Given the description of an element on the screen output the (x, y) to click on. 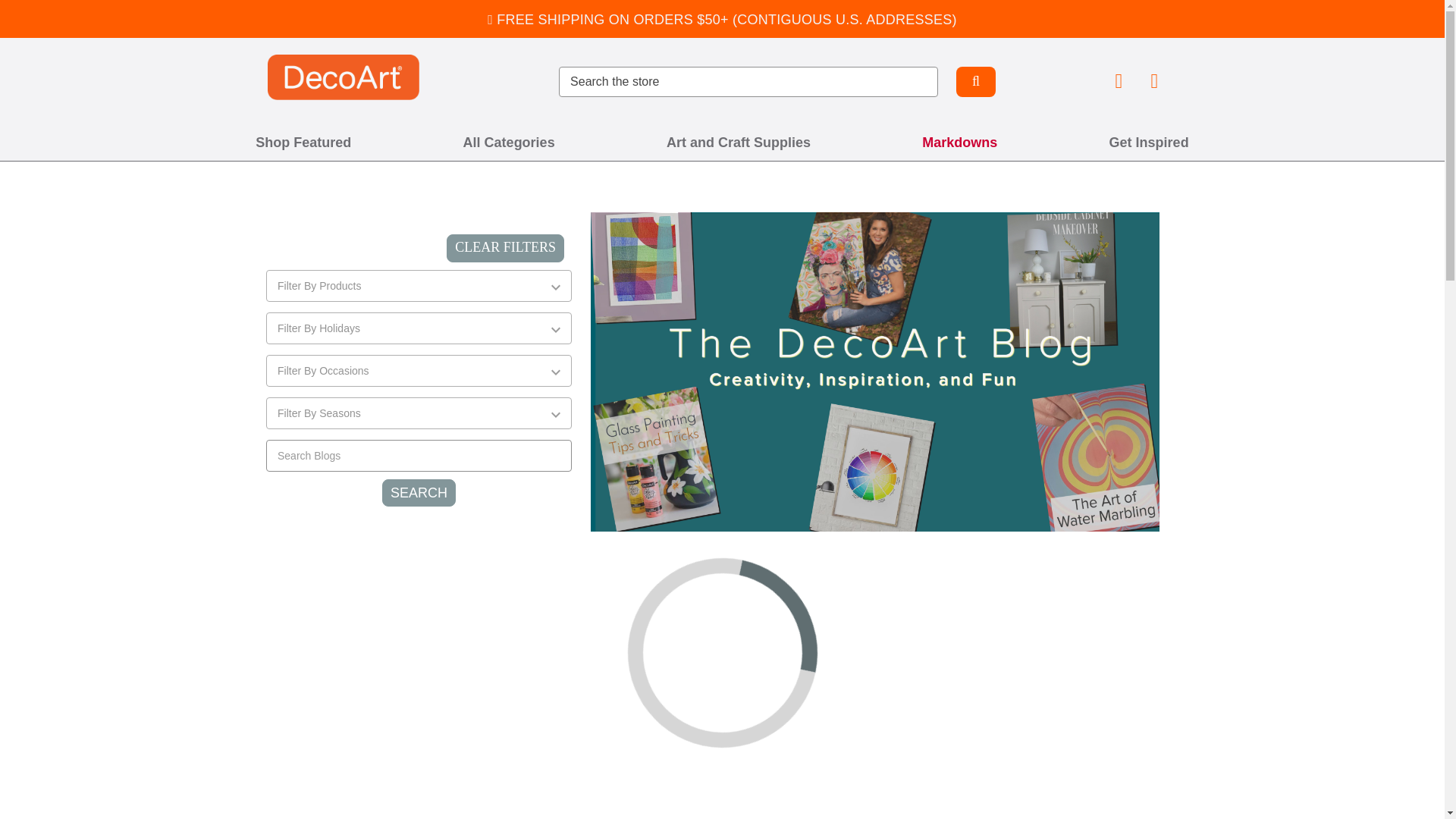
Shop Featured (302, 142)
Shop Featured (302, 143)
DecoArt Acrylic Paint and Art Supplies (343, 76)
